Given the description of an element on the screen output the (x, y) to click on. 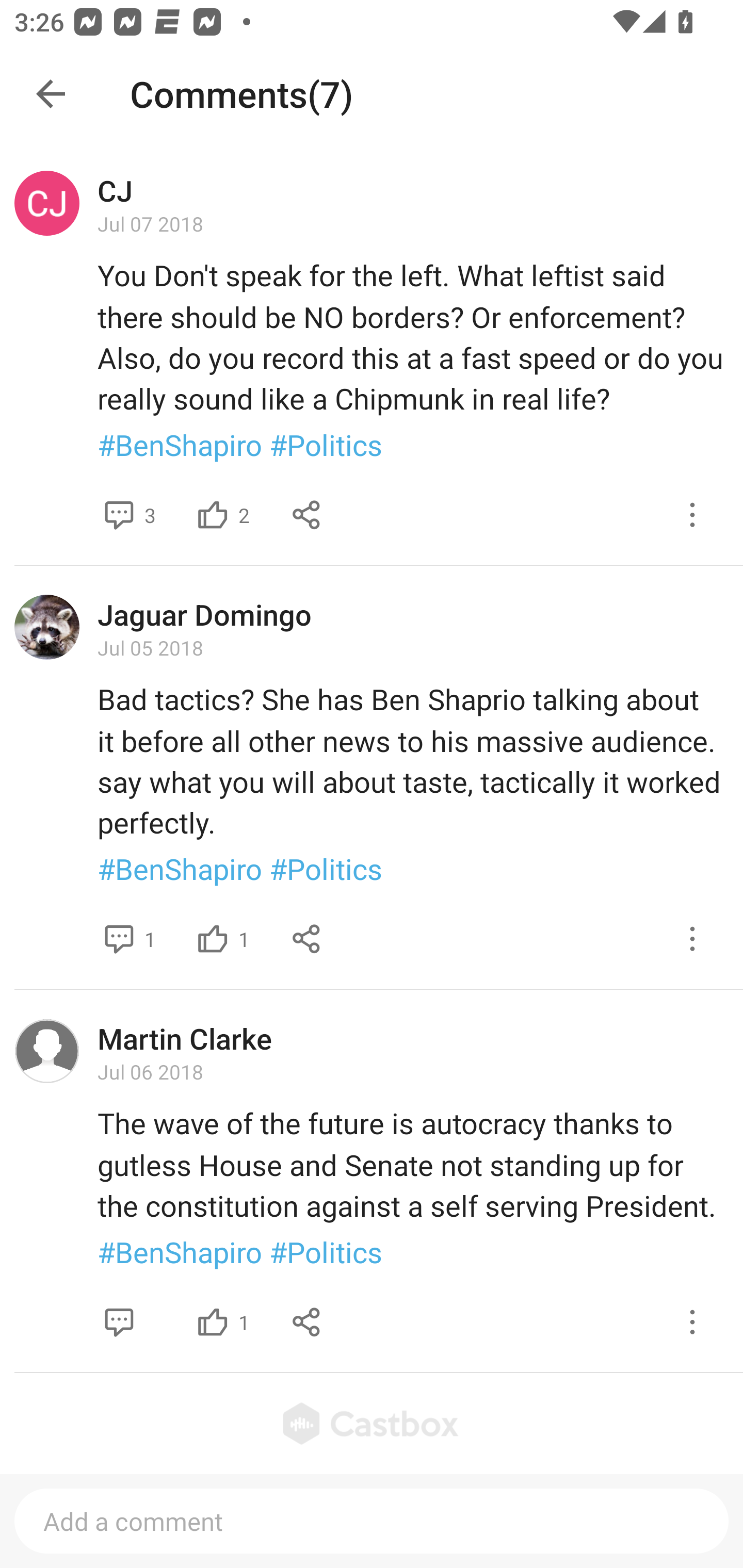
Navigate up (50, 93)
 (119, 514)
 (212, 514)
 (307, 514)
 (692, 514)
 (119, 939)
 (212, 939)
 (307, 939)
 (692, 939)
 (119, 1321)
 (212, 1321)
 (307, 1321)
 (692, 1321)
Add a comment (371, 1520)
